Given the description of an element on the screen output the (x, y) to click on. 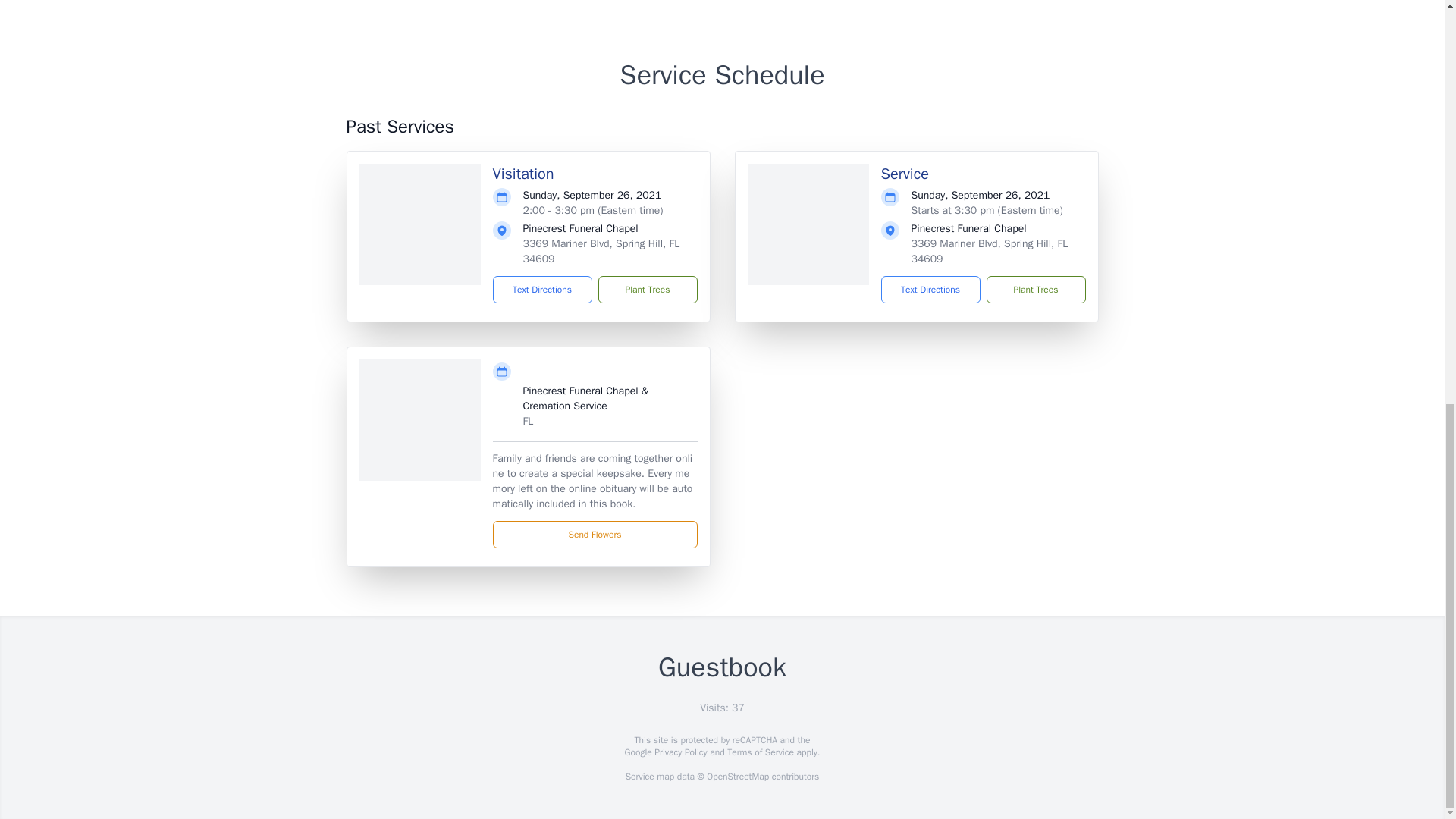
3369 Mariner Blvd, Spring Hill, FL 34609 (989, 251)
Send Flowers (595, 533)
Privacy Policy (679, 752)
Plant Trees (646, 289)
Plant Trees (1034, 289)
Text Directions (929, 289)
Text Directions (542, 289)
OpenStreetMap (737, 776)
FL (528, 420)
3369 Mariner Blvd, Spring Hill, FL 34609 (600, 251)
Terms of Service (759, 752)
